Given the description of an element on the screen output the (x, y) to click on. 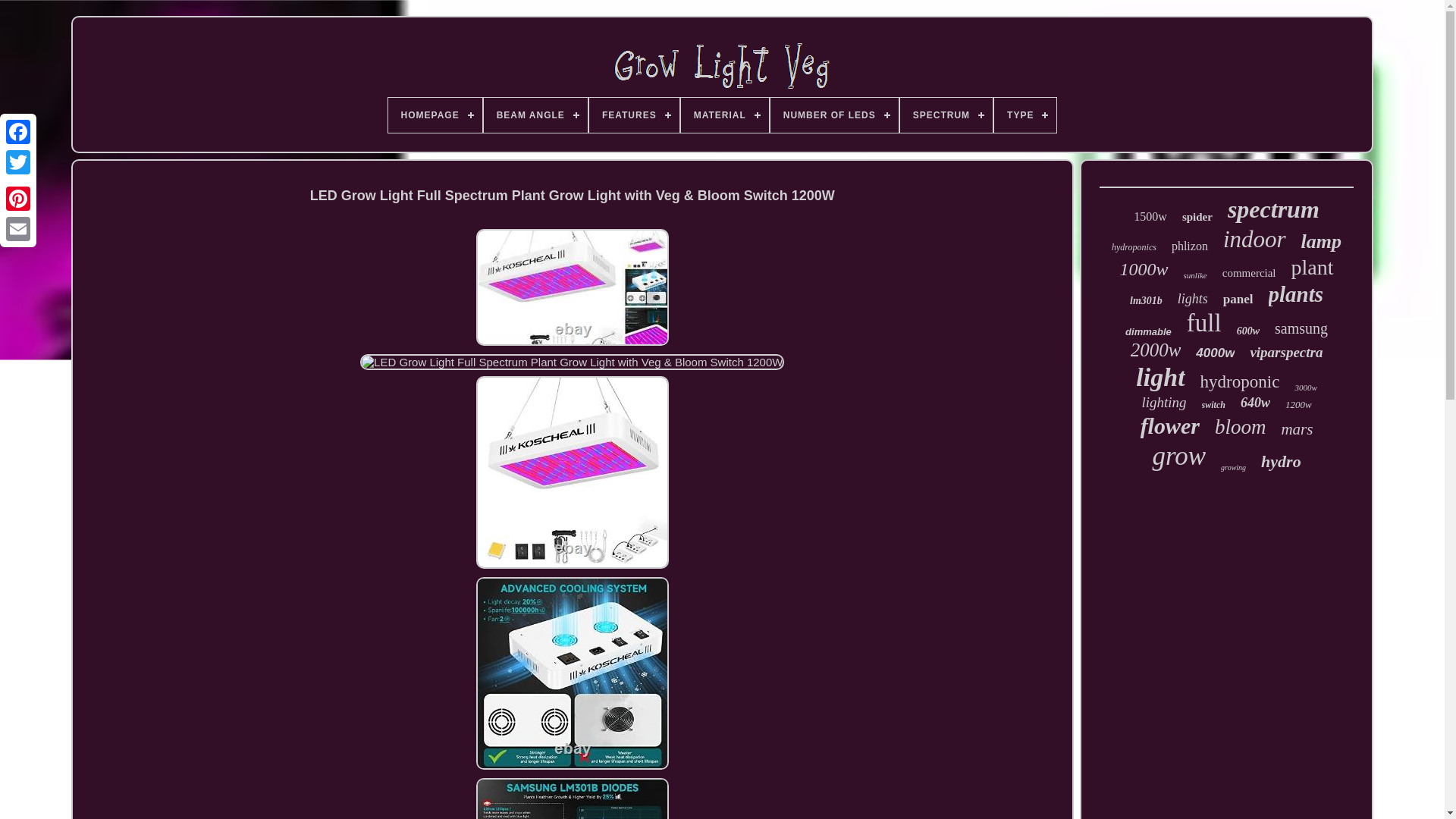
BEAM ANGLE (535, 114)
Twitter (17, 162)
HOMEPAGE (434, 114)
FEATURES (634, 114)
